Given the description of an element on the screen output the (x, y) to click on. 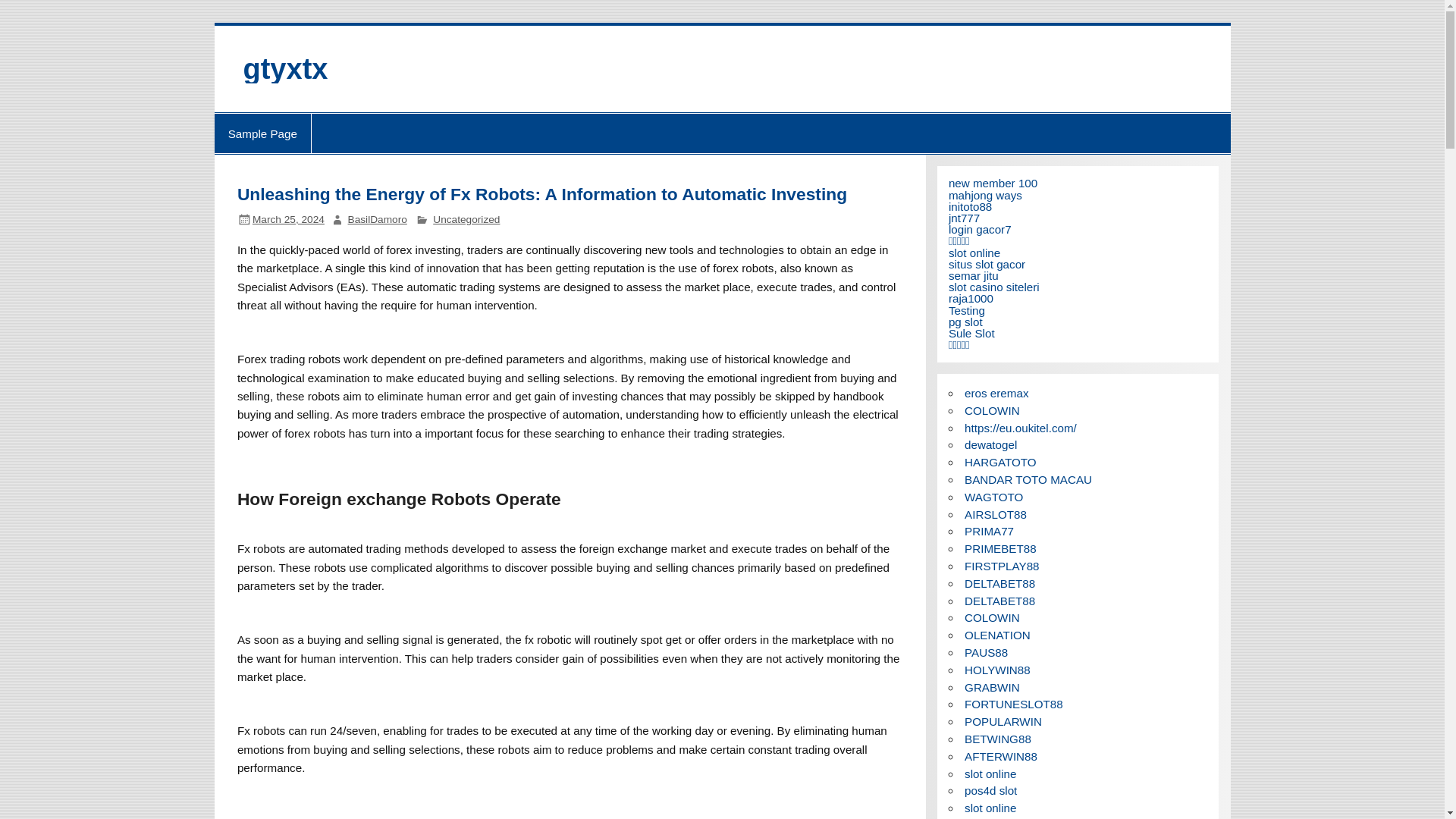
View all posts by BasilDamoro (377, 219)
gtyxtx (285, 69)
raja1000 (970, 297)
login gacor7 (980, 228)
jnt777 (964, 217)
PRIMEBET88 (999, 548)
Uncategorized (465, 219)
situs slot gacor (987, 264)
semar jitu (973, 275)
DELTABET88 (999, 600)
slot casino siteleri (994, 286)
new member 100 (992, 182)
March 25, 2024 (287, 219)
Testing (967, 309)
eros eremax (995, 392)
